Given the description of an element on the screen output the (x, y) to click on. 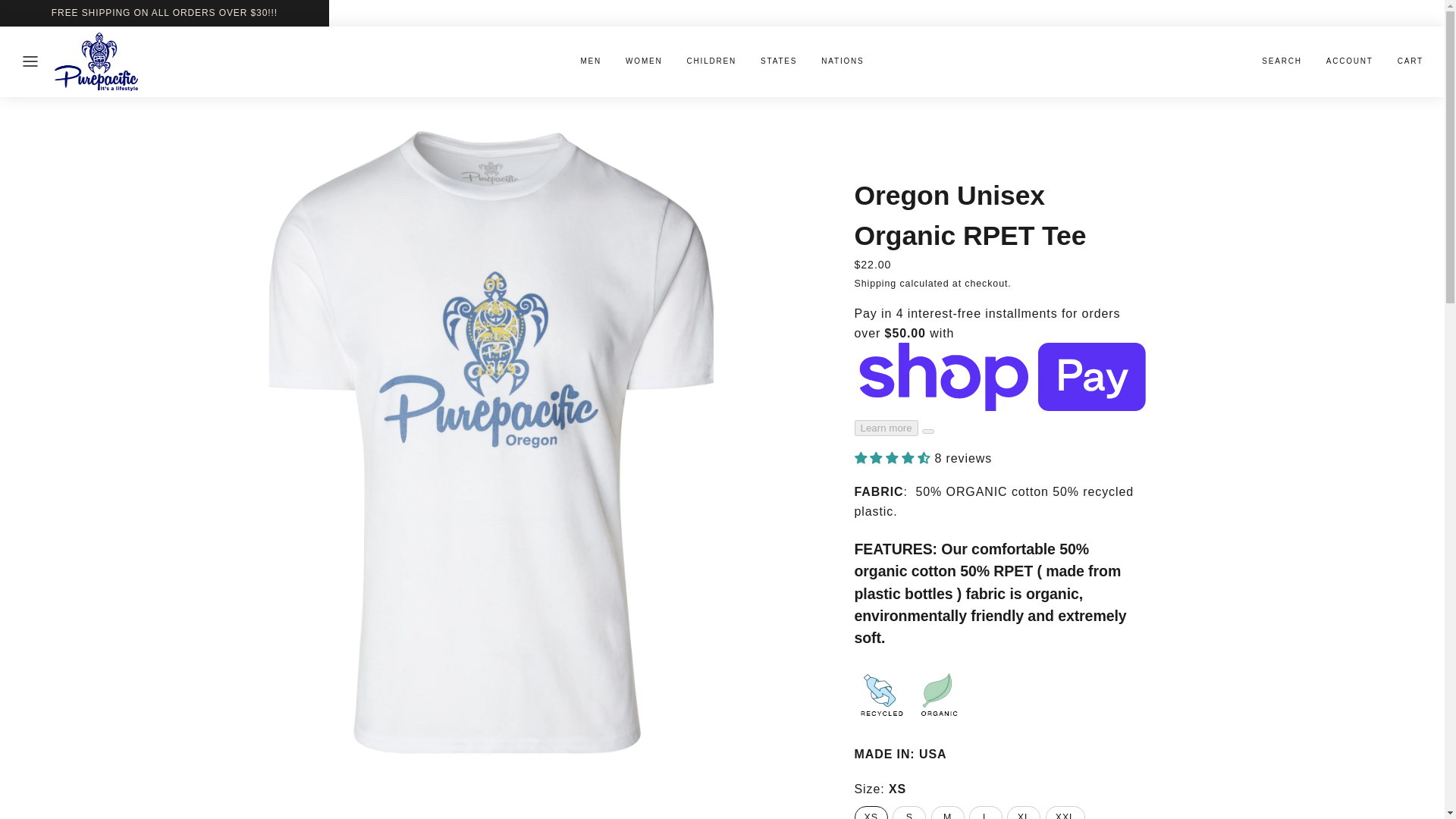
STATES (778, 61)
SEARCH (1281, 60)
ACCOUNT (1349, 60)
MEN (590, 61)
CART (1410, 60)
Shipping (874, 283)
